Given the description of an element on the screen output the (x, y) to click on. 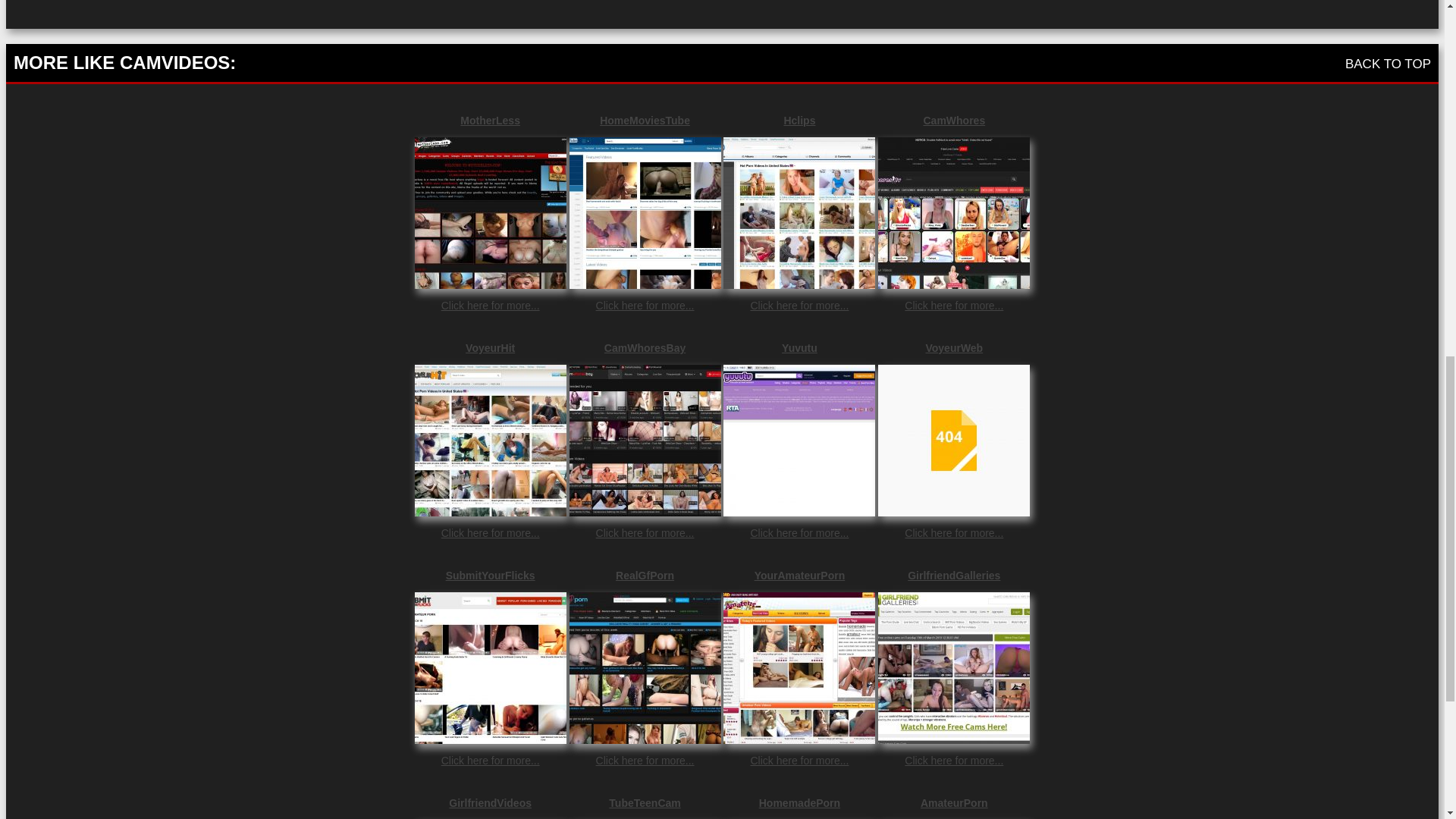
YourAmateurPorn (799, 575)
Click here for more... (953, 532)
Click here for more... (953, 305)
MotherLess (490, 120)
Click here for more... (644, 760)
Click here for more... (798, 760)
BACK TO TOP (1388, 63)
SubmitYourFlicks (490, 575)
CamWhoresBay (644, 347)
Yuvutu (799, 347)
CamWhores (953, 120)
Click here for more... (490, 760)
VoyeurHit (490, 347)
Hclips (799, 120)
Click here for more... (644, 305)
